Given the description of an element on the screen output the (x, y) to click on. 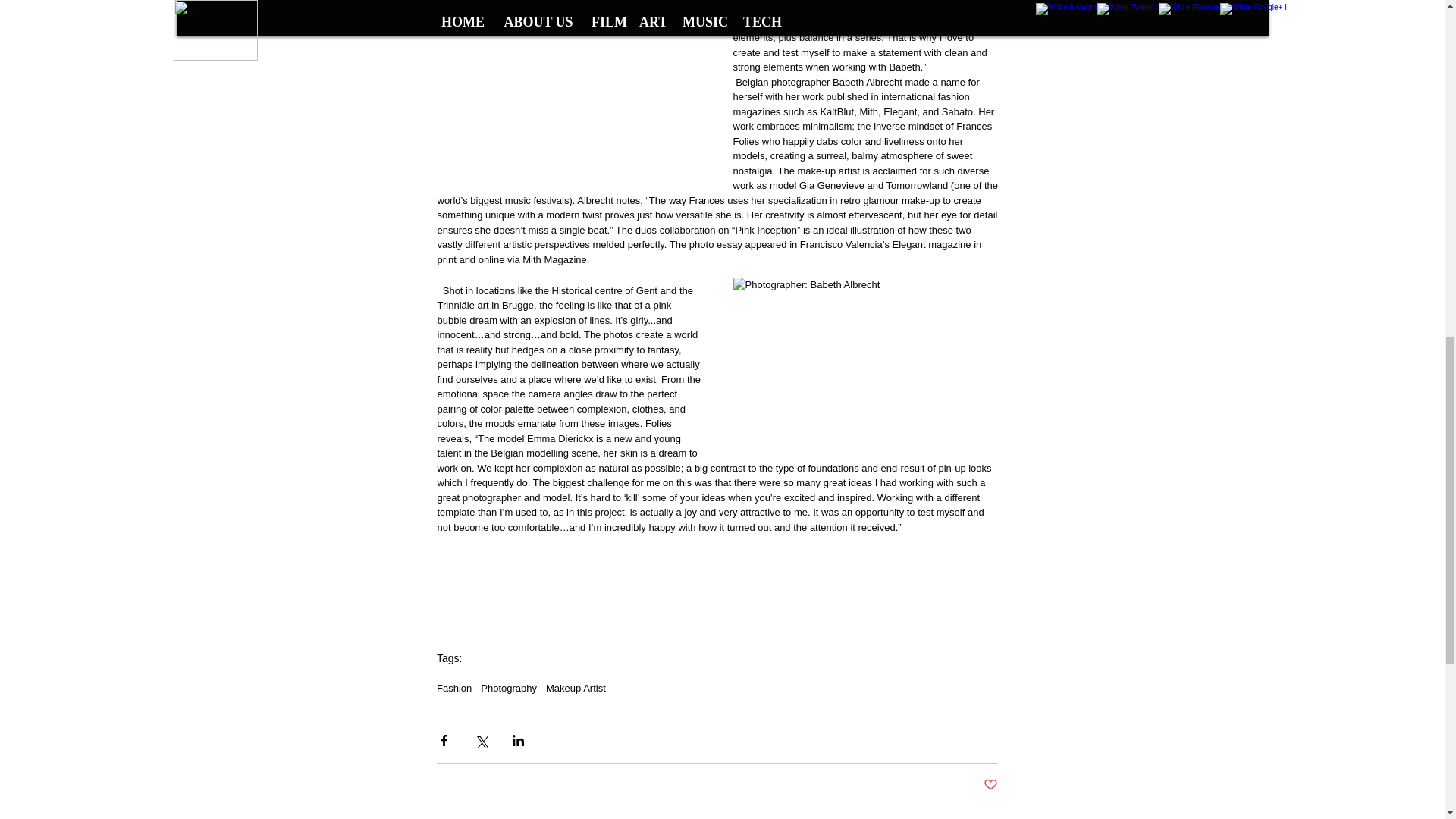
Post not marked as liked (990, 785)
Makeup Artist (575, 687)
Photography (508, 687)
Fashion (453, 687)
